Given the description of an element on the screen output the (x, y) to click on. 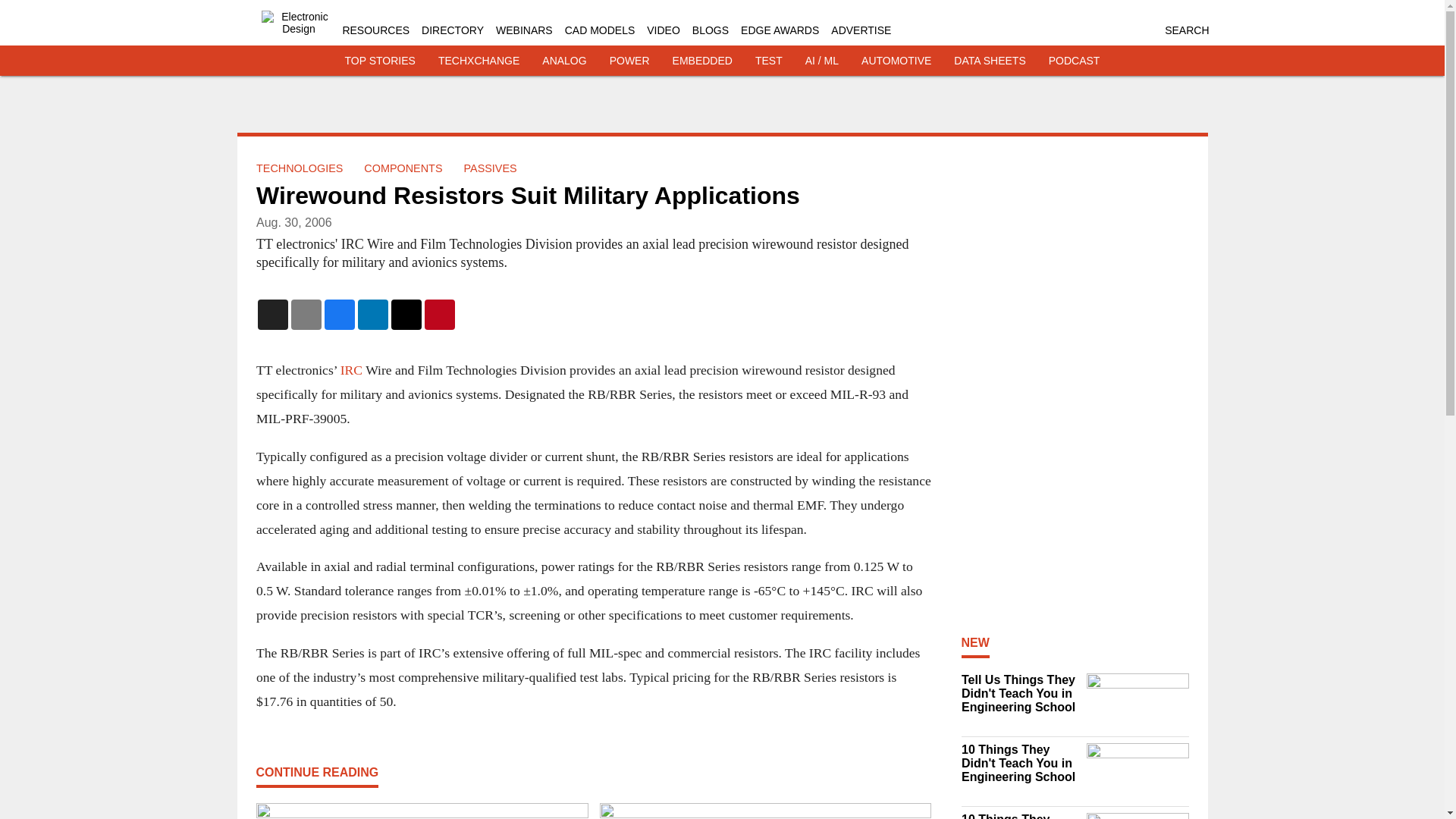
ANALOG (563, 60)
Tell Us Things They Didn't Teach You in Engineering School (1019, 693)
WEBINARS (524, 30)
POWER (629, 60)
PODCAST (1074, 60)
BLOGS (711, 30)
10 Things They Didn't Teach You in Engineering School (1019, 762)
TECHXCHANGE (478, 60)
RESOURCES (375, 30)
COMPONENTS (403, 168)
EMBEDDED (702, 60)
ADVERTISE (861, 30)
CAD MODELS (599, 30)
AUTOMOTIVE (896, 60)
DIRECTORY (452, 30)
